Given the description of an element on the screen output the (x, y) to click on. 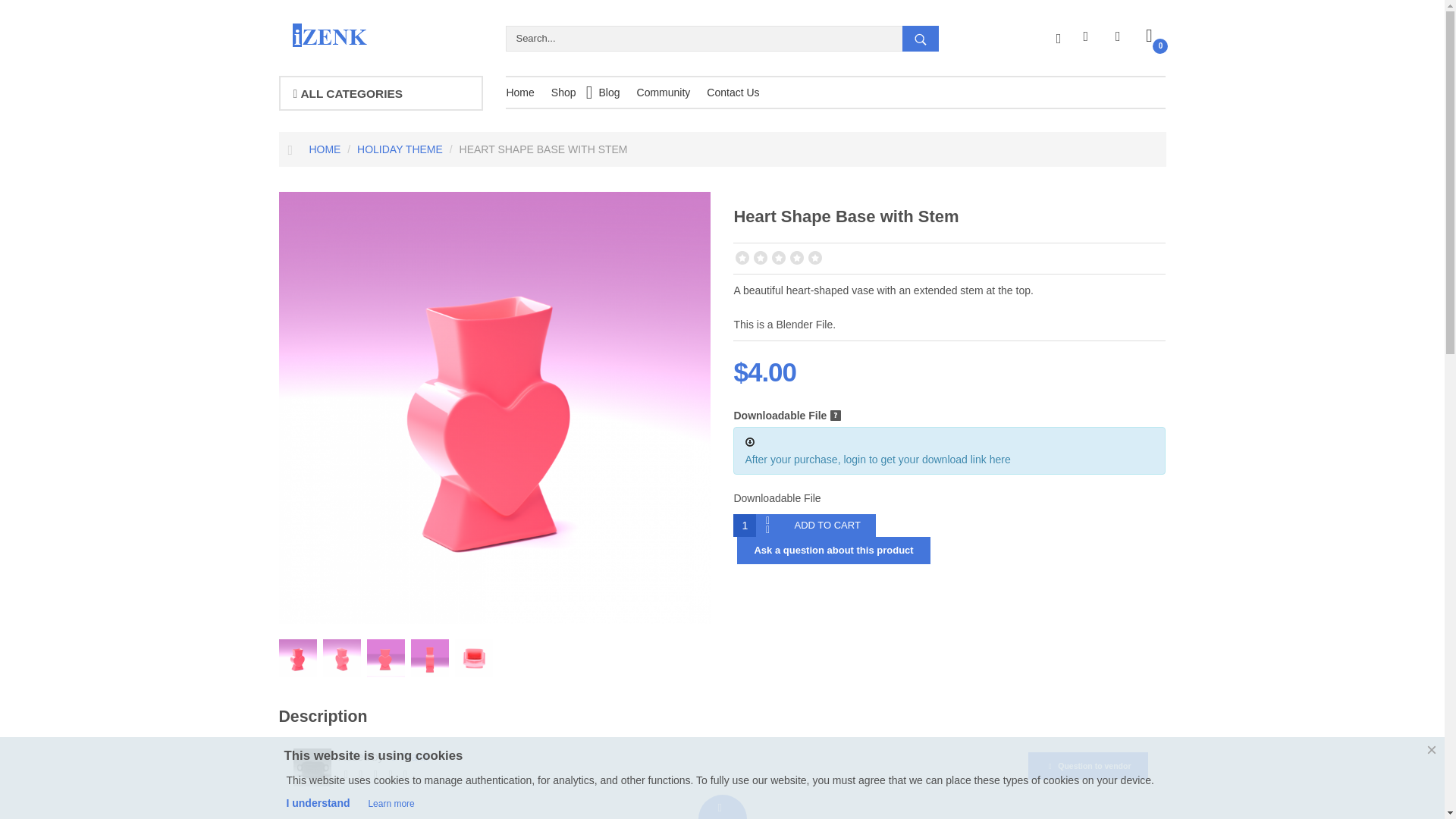
0 Products (1149, 35)
I understand (317, 802)
Add to Cart (826, 525)
Search (920, 39)
Show Cart (1149, 35)
Search... (731, 38)
1 (744, 525)
Learn more (390, 803)
